Given the description of an element on the screen output the (x, y) to click on. 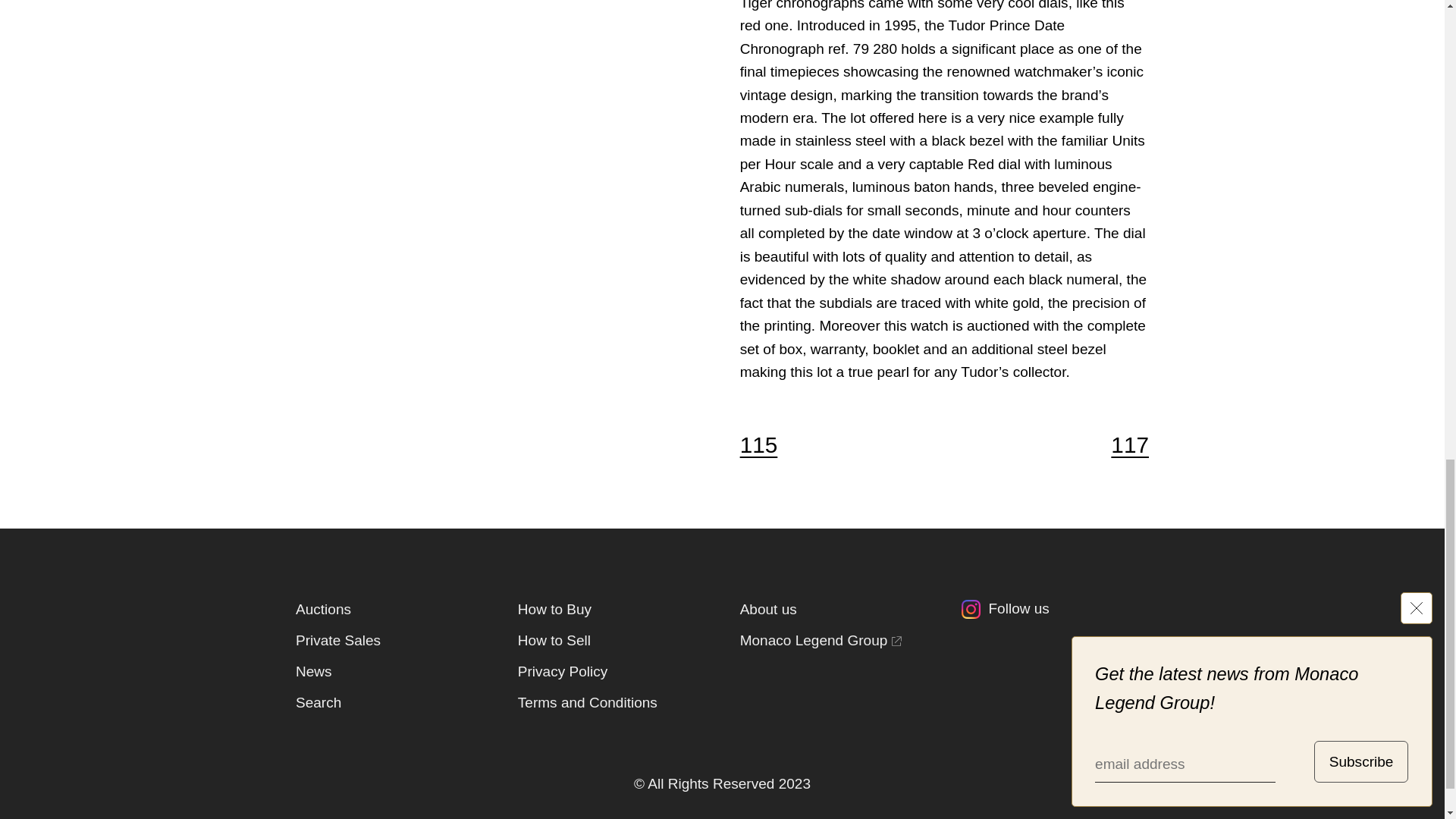
115 (767, 445)
How to Buy (554, 608)
Privacy Policy (562, 671)
Auctions (322, 608)
About us (767, 608)
News (313, 671)
Follow us (1054, 612)
Search (317, 702)
How to Sell (554, 640)
Terms and Conditions (588, 702)
